Given the description of an element on the screen output the (x, y) to click on. 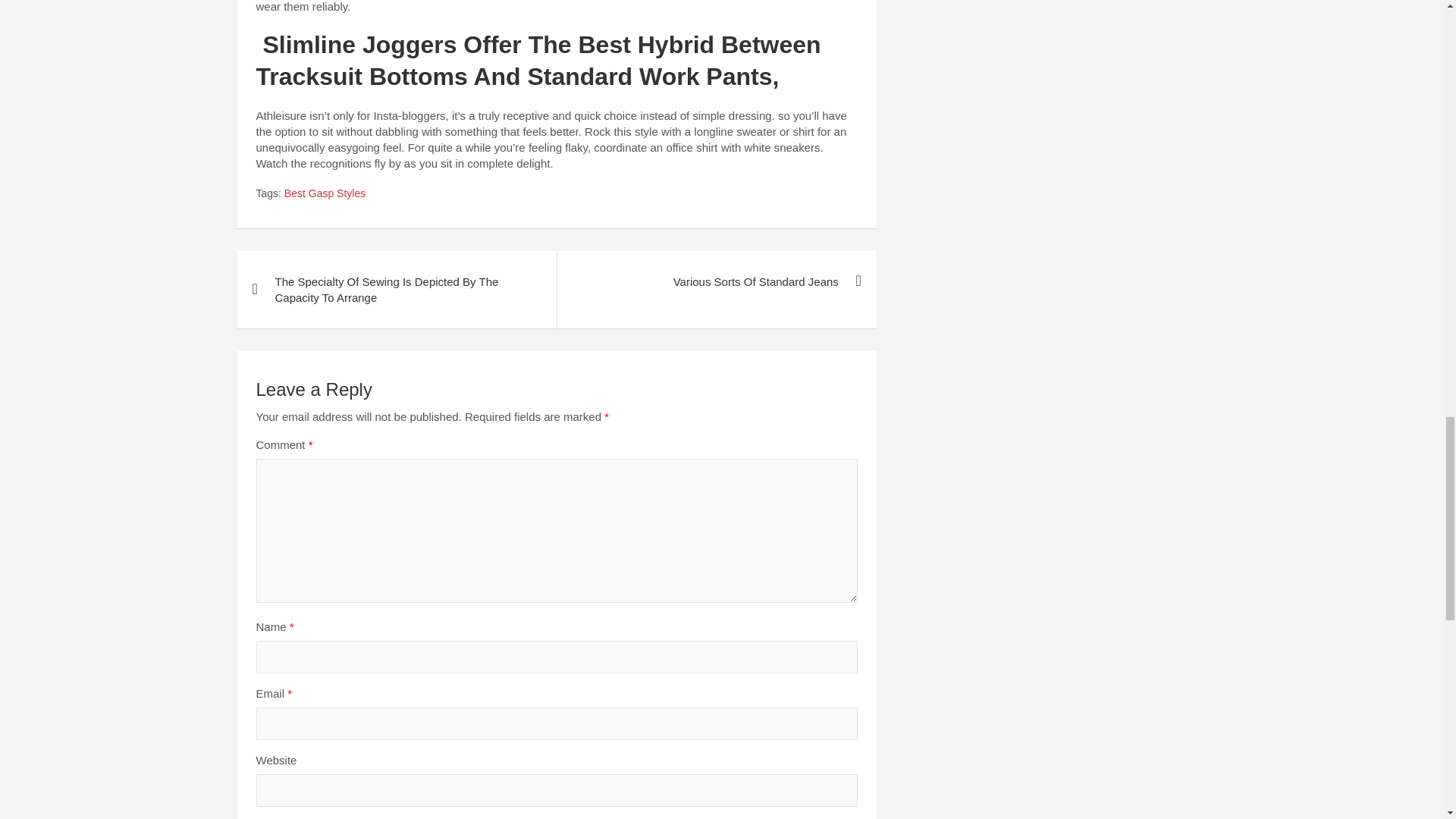
Various Sorts Of Standard Jeans (716, 281)
Best Gasp Styles (324, 193)
